Given the description of an element on the screen output the (x, y) to click on. 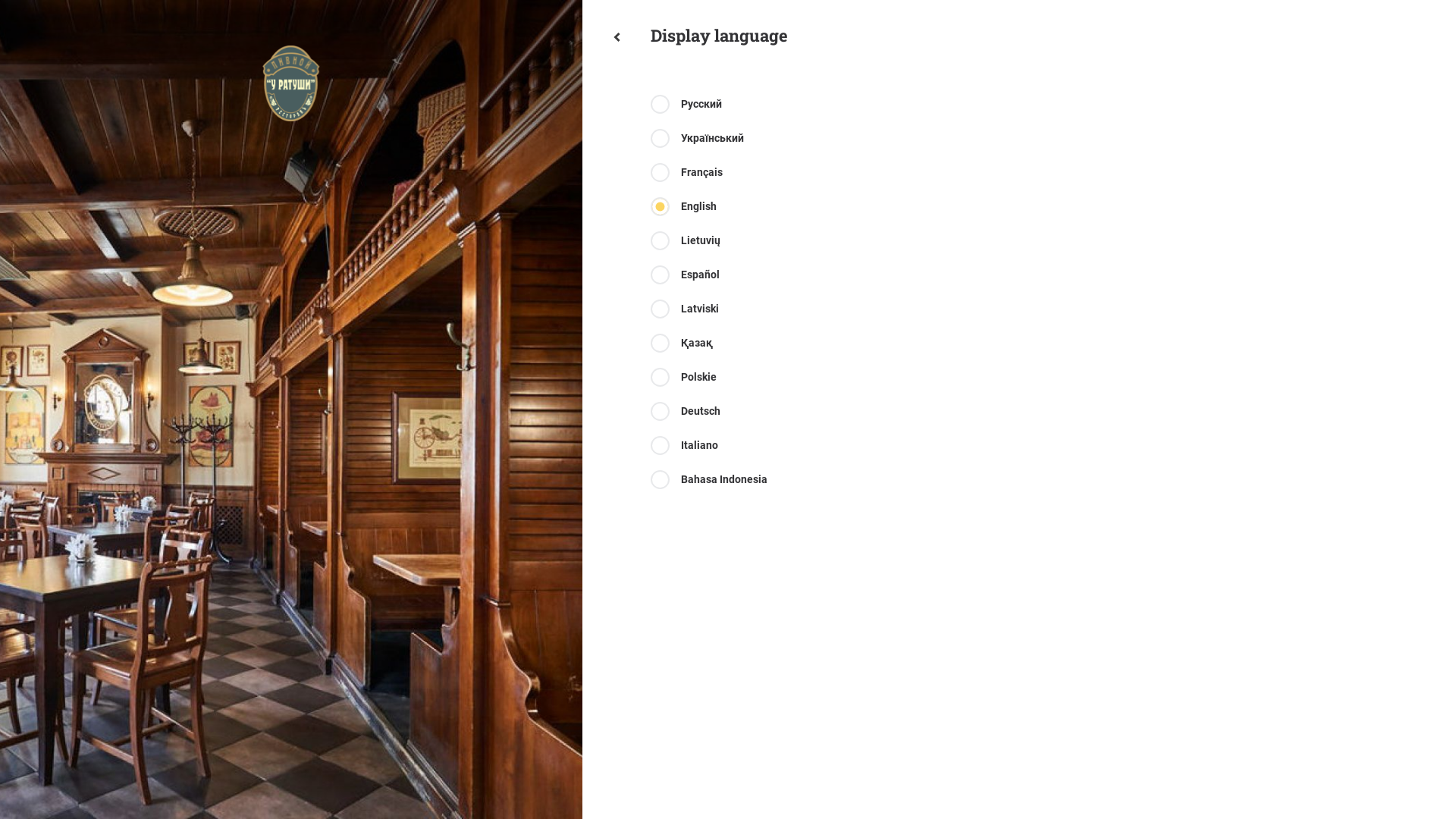
  Element type: text (616, 36)
